Given the description of an element on the screen output the (x, y) to click on. 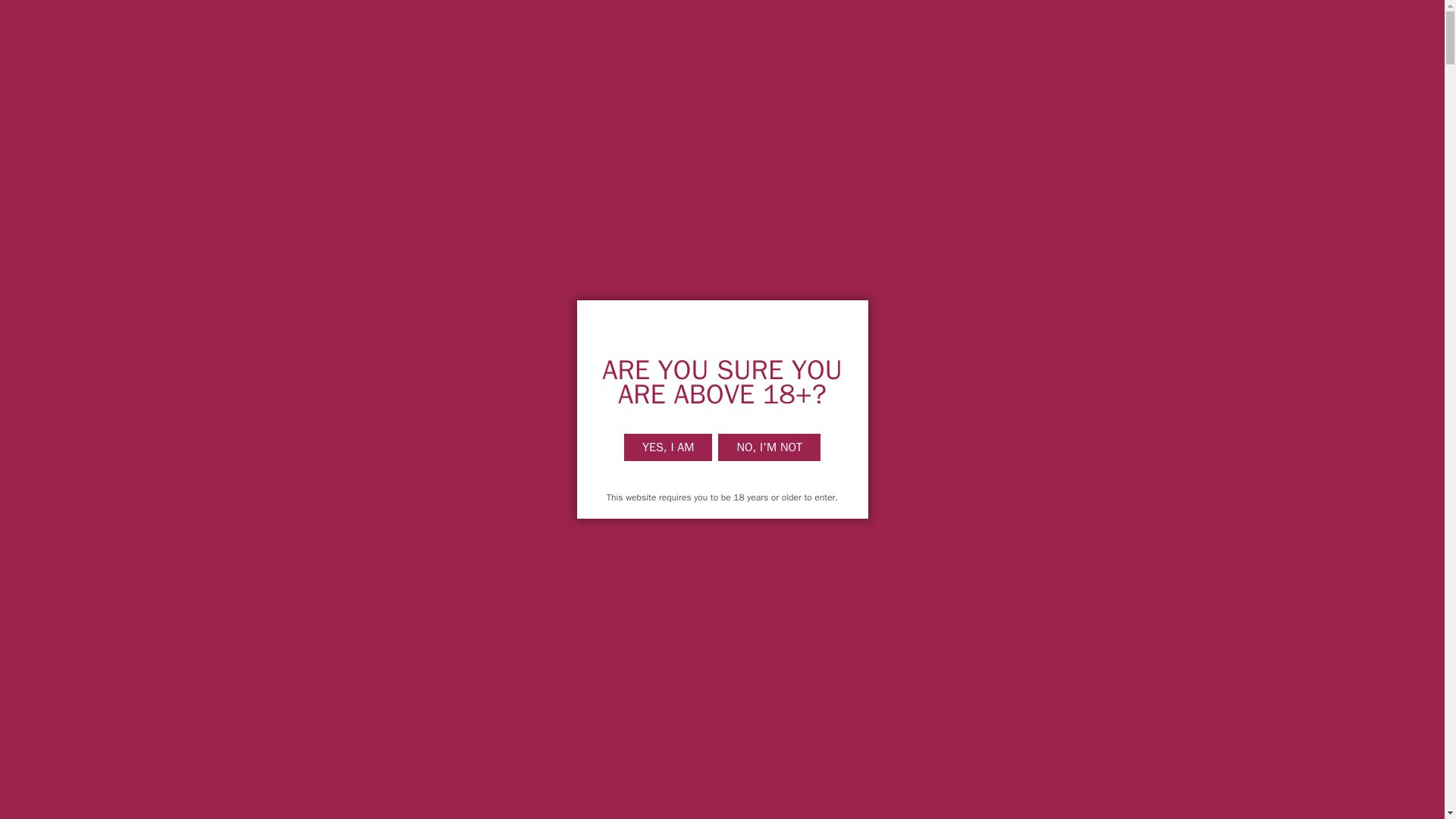
QUIZZES (638, 22)
TRENDING (364, 22)
MEMES (726, 22)
STORIES (547, 22)
3rd party ad content (1007, 628)
ENGLISH (915, 22)
SPOTLIGHT (820, 22)
VIDEOS (458, 22)
3rd party ad content (58, 504)
